Given the description of an element on the screen output the (x, y) to click on. 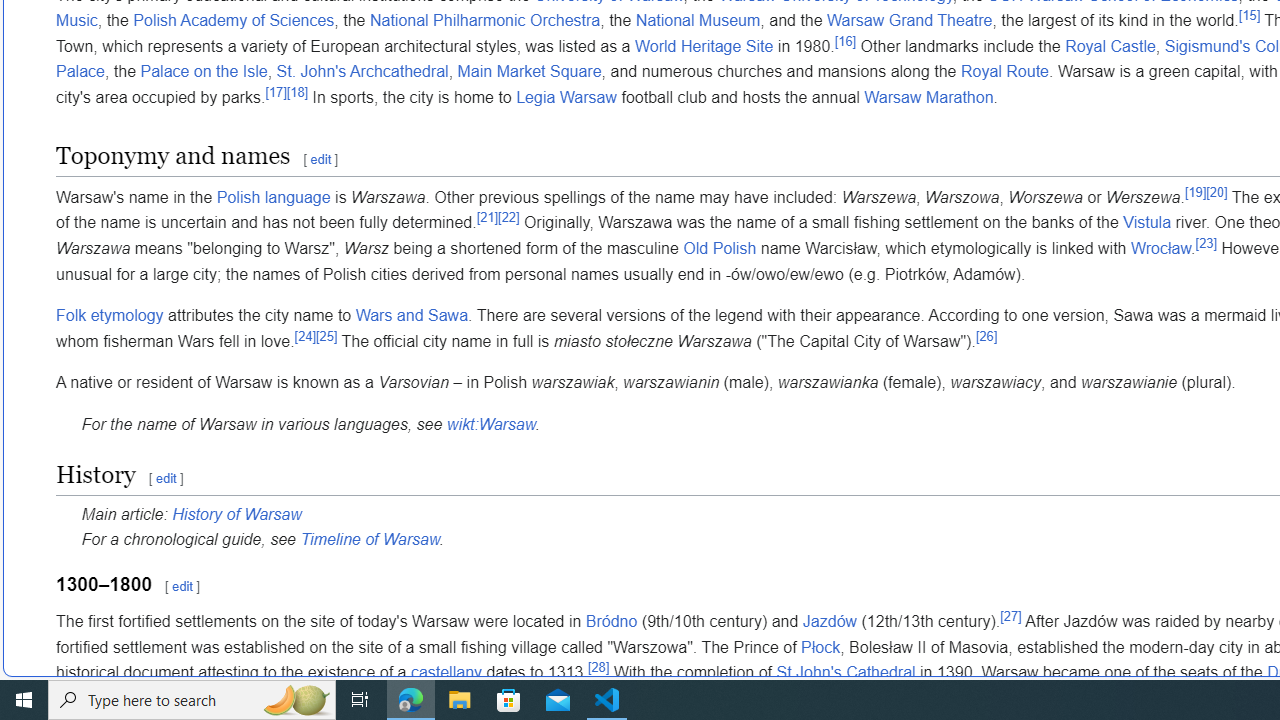
[28] (598, 666)
St. John's Archcathedral (362, 71)
[18] (296, 92)
[22] (508, 218)
Palace on the Isle (203, 71)
Royal Route (1004, 71)
[23] (1206, 242)
[27] (1010, 615)
Warsaw Marathon (929, 98)
edit (182, 586)
Legia Warsaw (565, 98)
Main Market Square (528, 71)
Folk etymology (109, 315)
[19] (1195, 192)
